Given the description of an element on the screen output the (x, y) to click on. 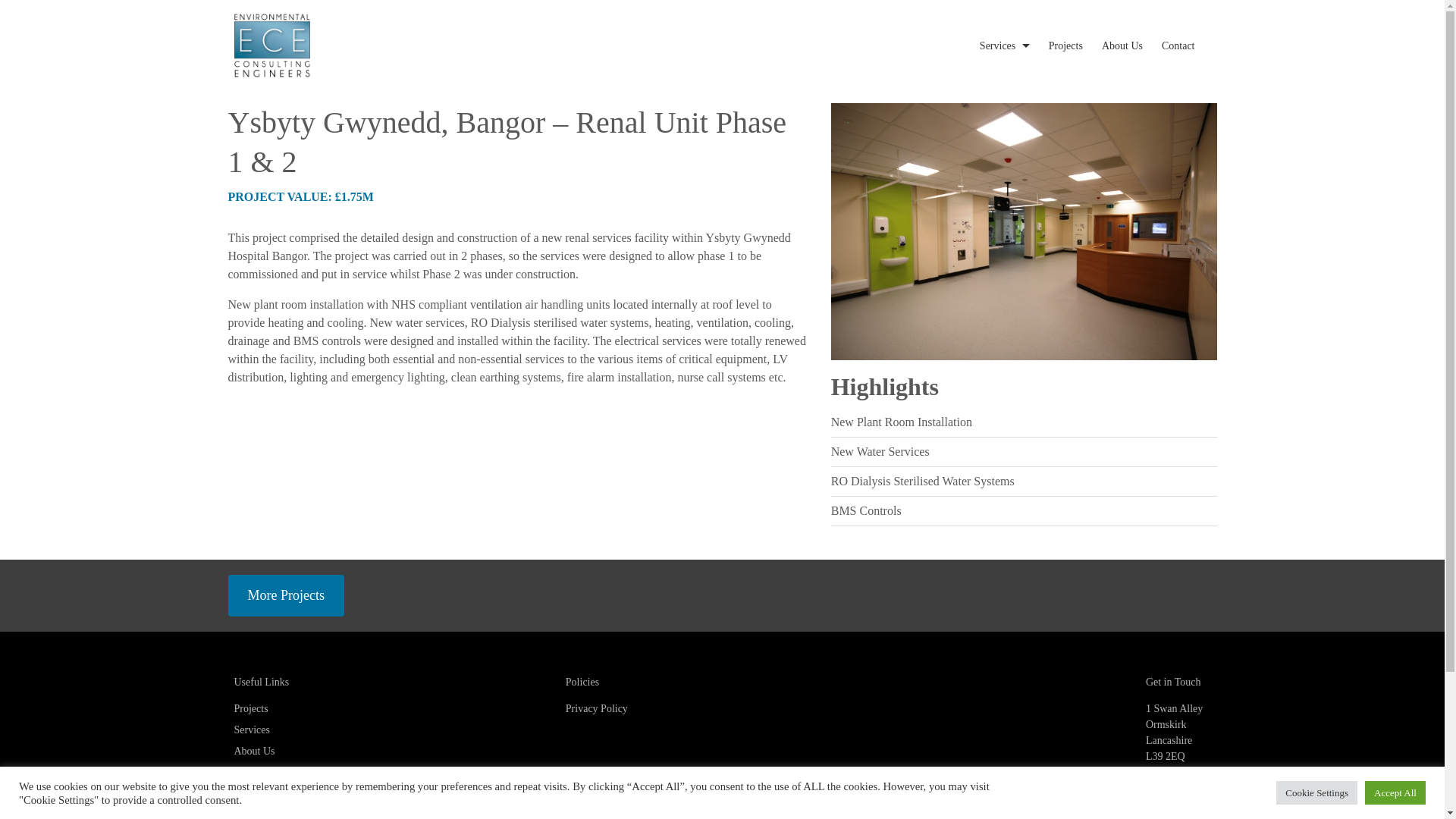
Projects (1065, 45)
Cookie Settings (1316, 792)
Contact (1178, 45)
Contact (249, 772)
Contact (1178, 45)
Services (996, 45)
Privacy Policy (596, 708)
Projects (1065, 45)
Accept All (1395, 792)
Services (250, 729)
More Projects (285, 595)
Services (996, 45)
About Us (1122, 45)
Contact Us (1178, 814)
Projects (249, 708)
